Given the description of an element on the screen output the (x, y) to click on. 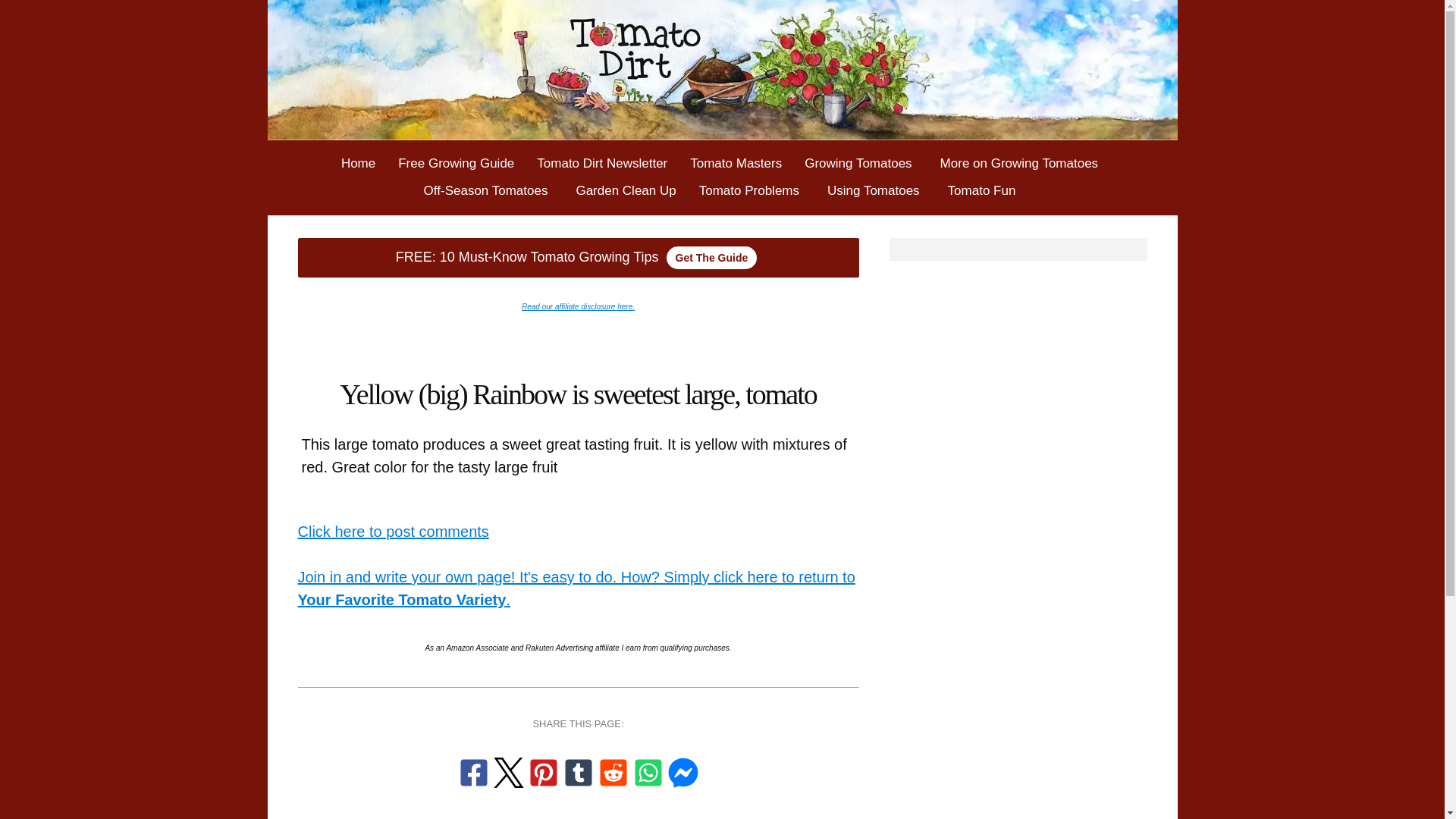
Home (358, 162)
Tomato Masters (735, 162)
Free Growing Guide (456, 162)
Tomato Dirt (721, 70)
Garden Clean Up (625, 189)
Tomato Dirt Newsletter (601, 162)
